Given the description of an element on the screen output the (x, y) to click on. 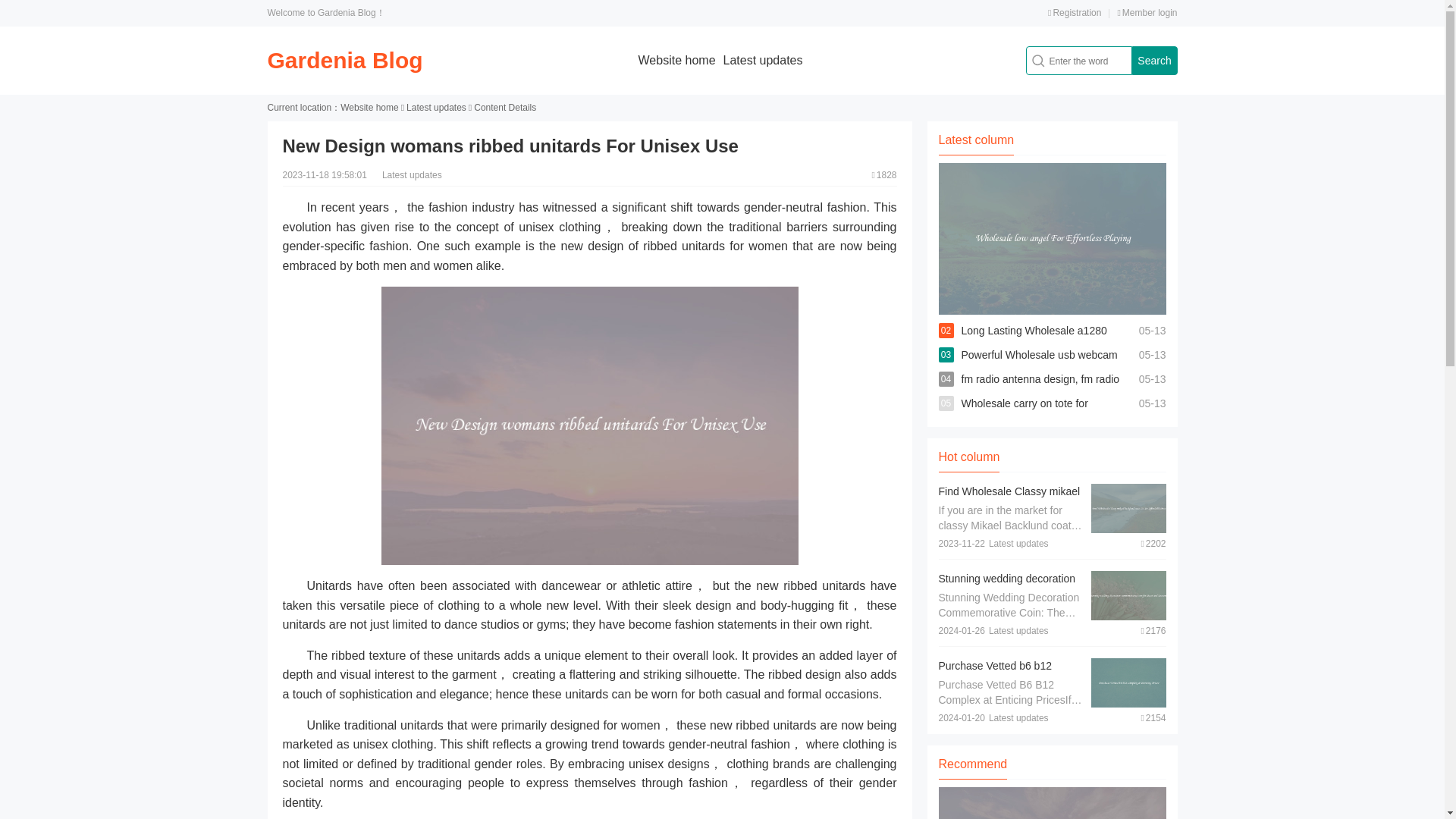
Website home (368, 107)
Website home (677, 60)
Latest updates (435, 107)
Purchase Vetted b6 b12 complex at Enticing Prices (1000, 673)
Member login (1146, 12)
Search (1153, 60)
Wholesale carry on tote for Enjoyment During Trips (1023, 415)
Gardenia Blog (344, 59)
Registration (1074, 12)
Latest updates (763, 60)
